Given the description of an element on the screen output the (x, y) to click on. 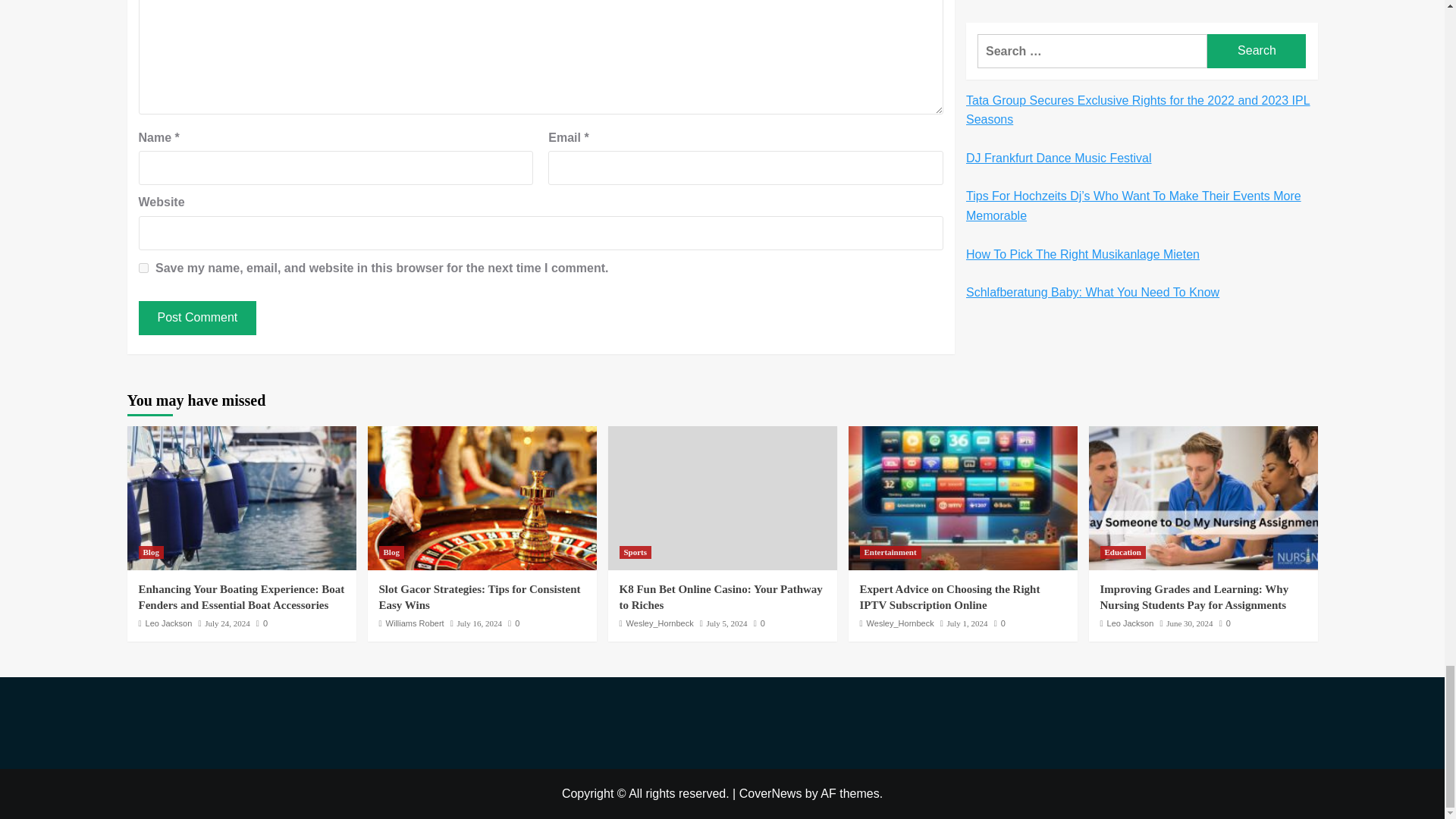
yes (143, 267)
Post Comment (197, 317)
